Given the description of an element on the screen output the (x, y) to click on. 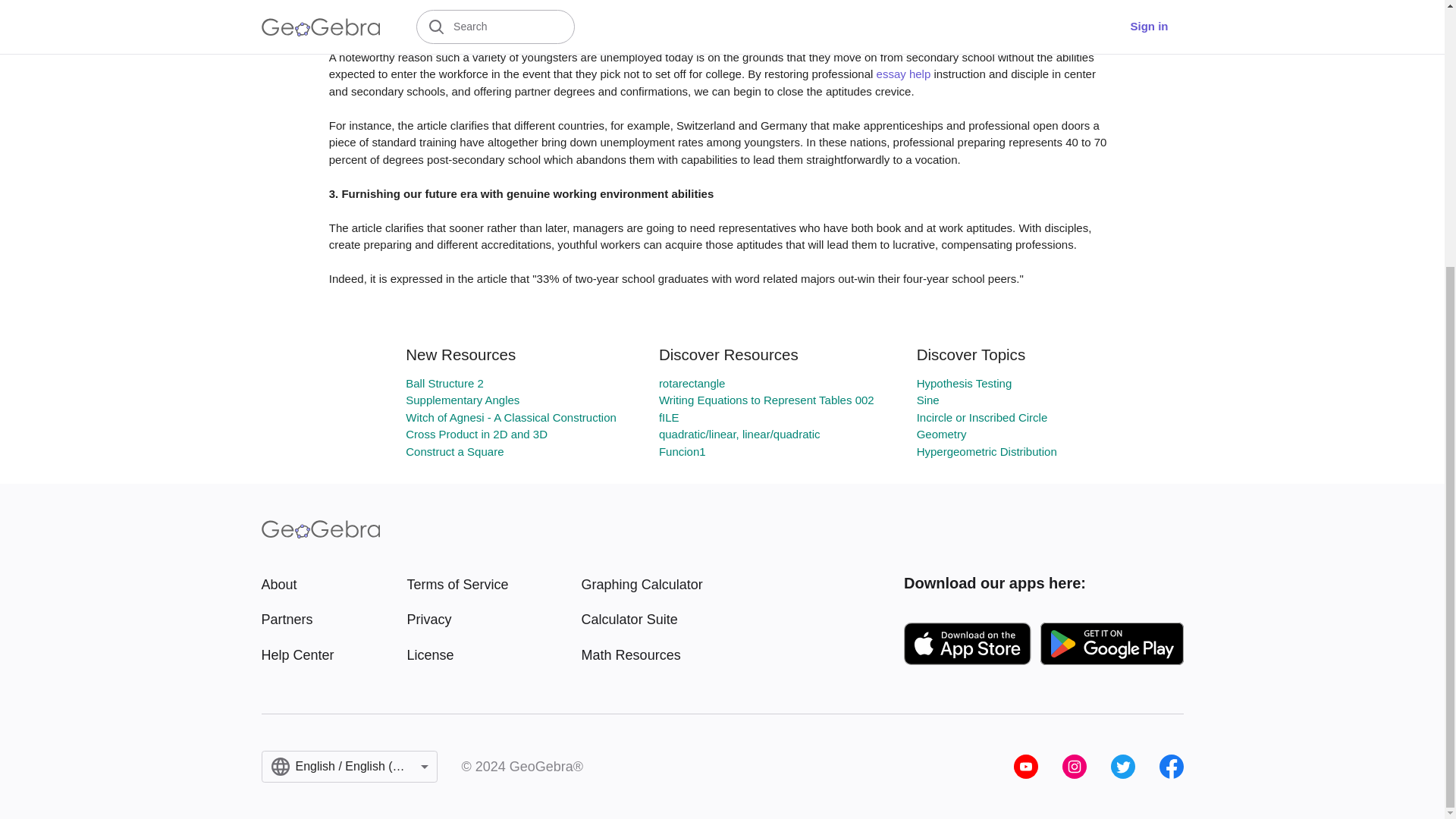
Calculator Suite (641, 619)
Supplementary Angles (462, 399)
Terms of Service (457, 584)
Instagram (1073, 766)
rotarectangle (692, 382)
Twitter (1121, 766)
Ball Structure 2 (444, 382)
Language Switcher Dropdown (348, 766)
Incircle or Inscribed Circle (982, 417)
essay help (903, 73)
About (296, 584)
Graphing Calculator (641, 584)
Privacy (457, 619)
fILE (669, 417)
Cross Product in 2D and 3D (476, 433)
